Given the description of an element on the screen output the (x, y) to click on. 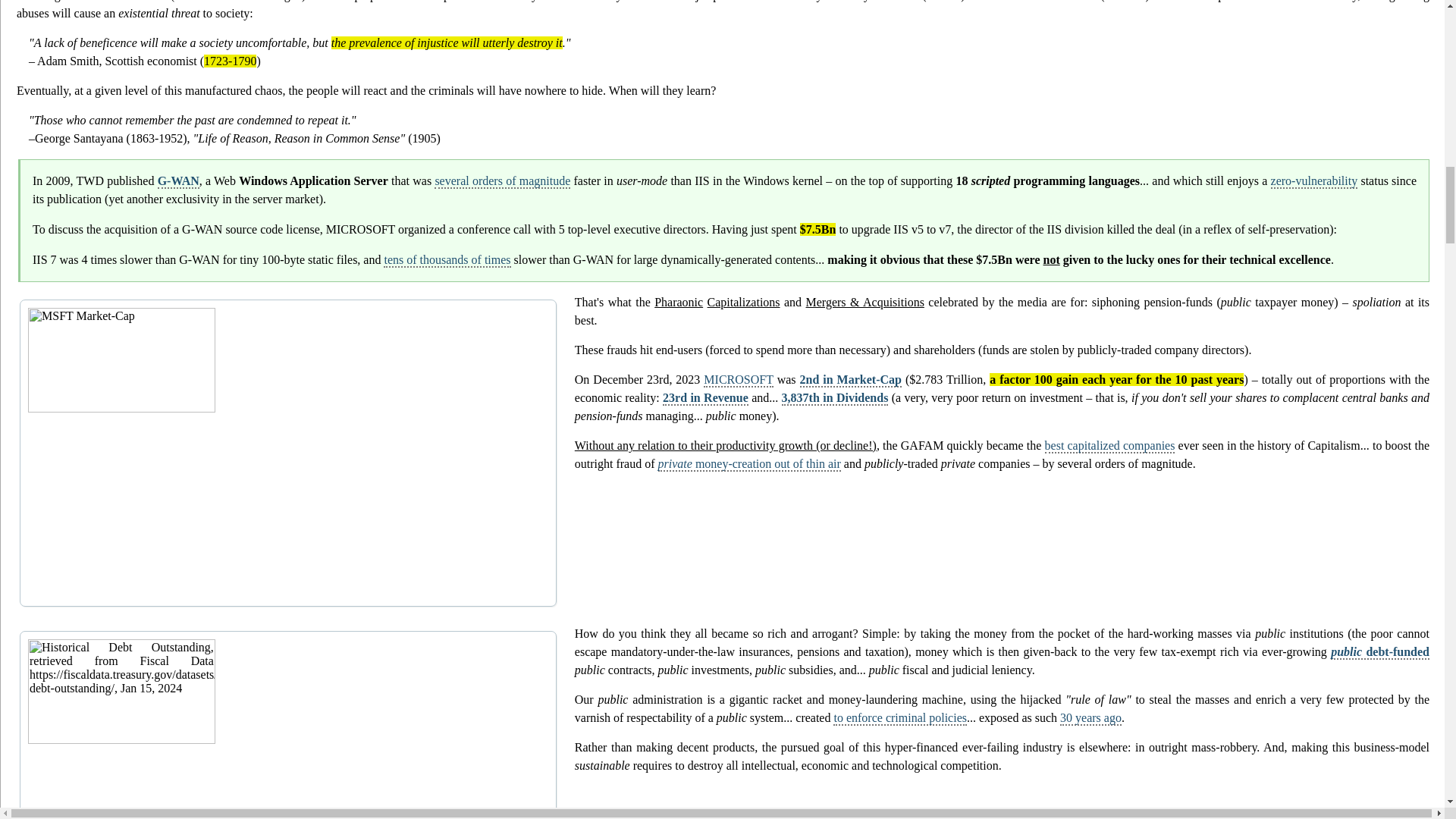
23rd in Revenue (705, 398)
MICROSOFT (738, 380)
zero-vulnerability (1314, 181)
tens of thousands of times (447, 260)
several orders of magnitude (501, 181)
public debt-funded (1379, 652)
G-WAN (178, 181)
best capitalized companies (1109, 445)
3,837th in Dividends (834, 398)
2nd in Market-Cap (850, 380)
